Given the description of an element on the screen output the (x, y) to click on. 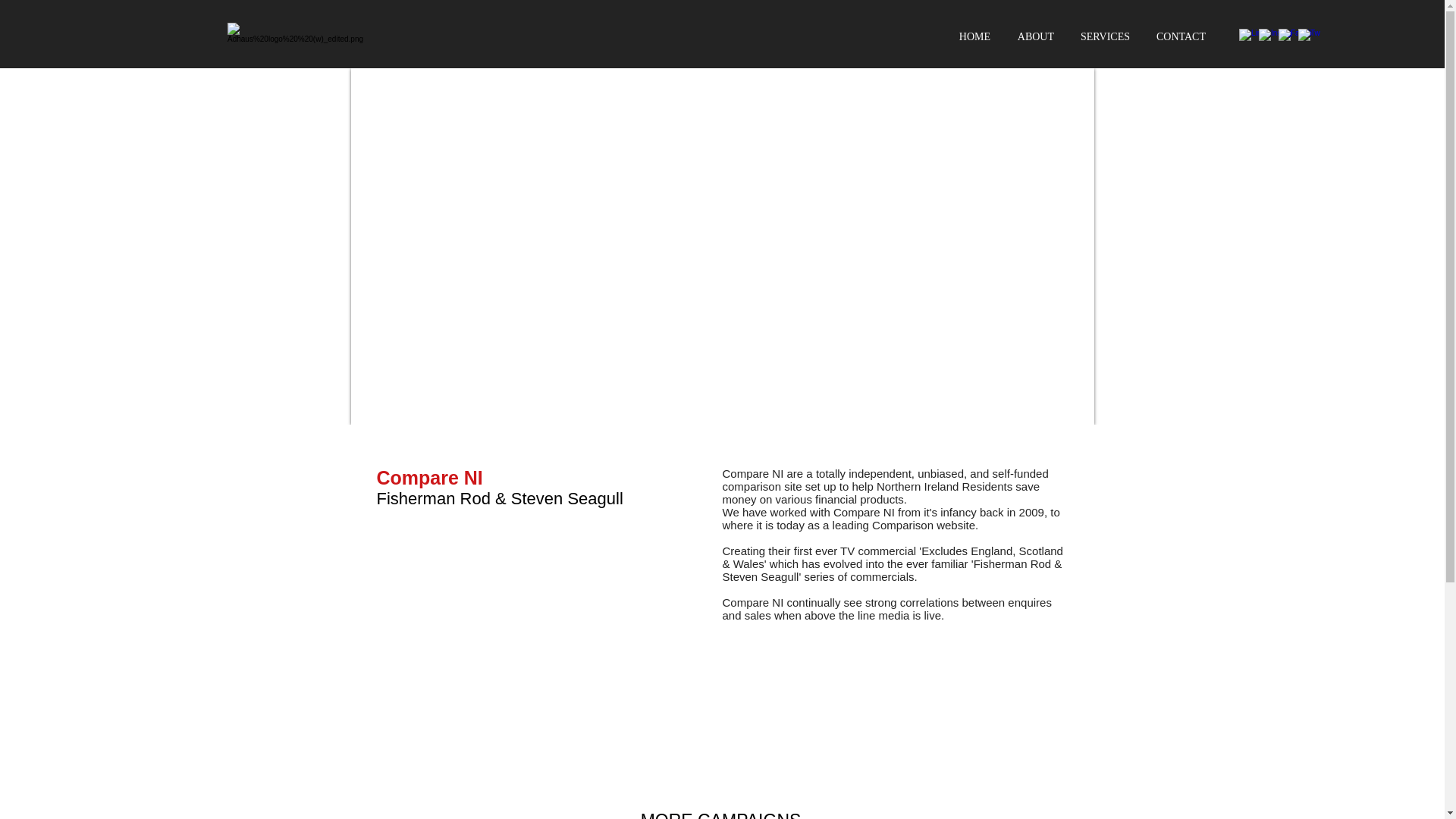
HOME (972, 36)
SERVICES (1103, 36)
ABOUT (1033, 36)
Adhaus PNG.png (294, 35)
CONTACT (1179, 36)
